Given the description of an element on the screen output the (x, y) to click on. 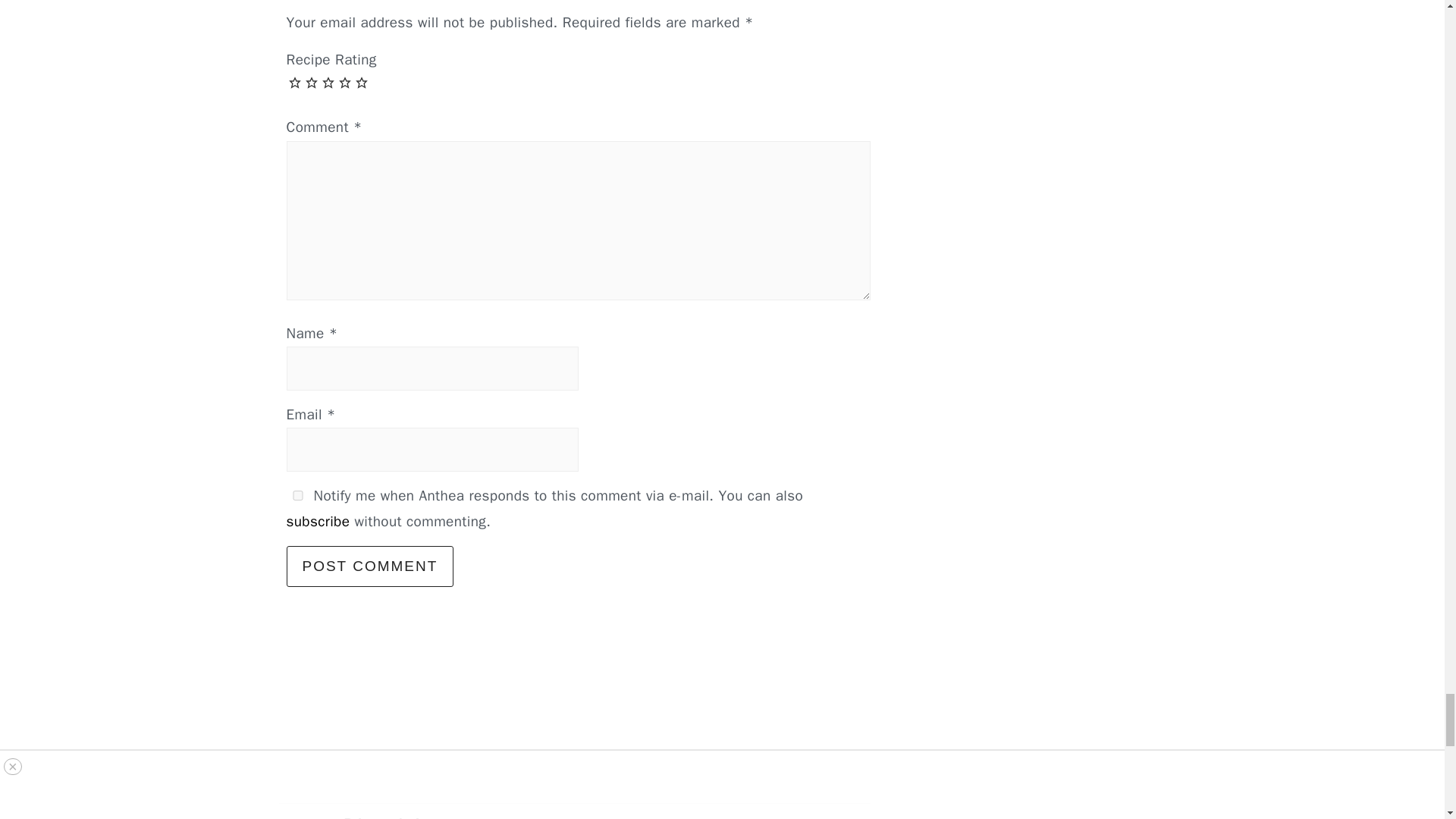
Post Comment (370, 566)
replies (297, 495)
